Given the description of an element on the screen output the (x, y) to click on. 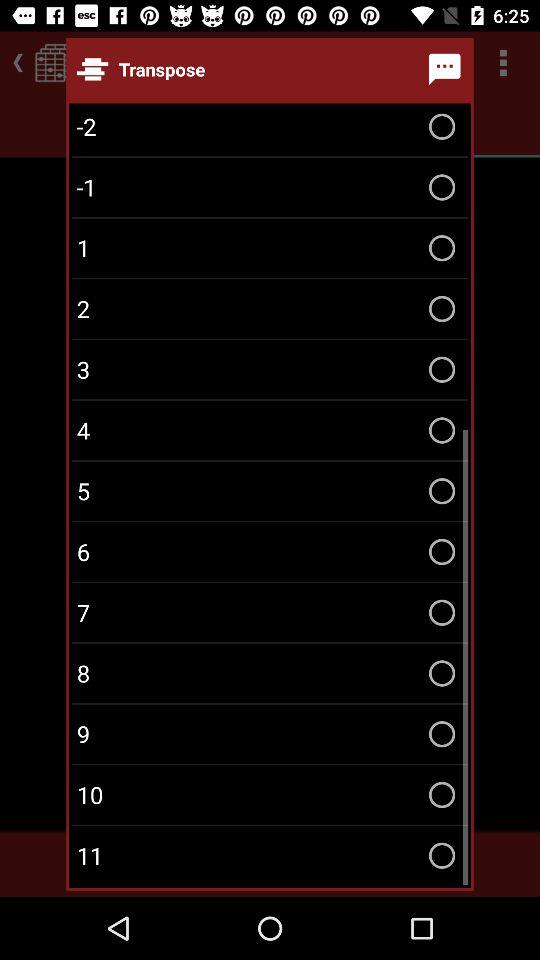
flip to the 4 (269, 430)
